Given the description of an element on the screen output the (x, y) to click on. 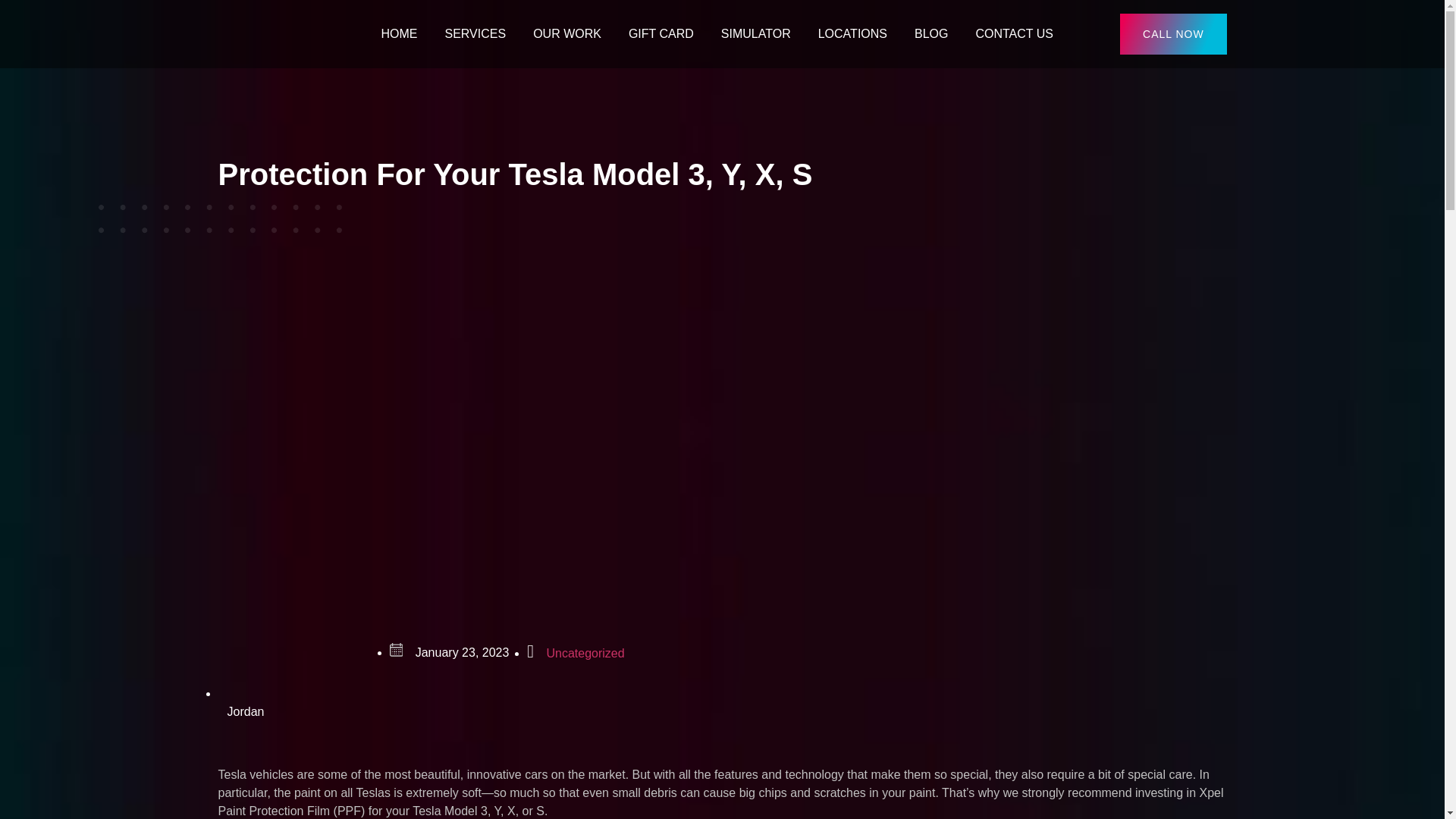
LOCATIONS (853, 34)
CALL NOW (1173, 33)
HOME (398, 34)
OUR WORK (566, 34)
SIMULATOR (756, 34)
GIFT CARD (660, 34)
CONTACT US (1013, 34)
BLOG (930, 34)
SERVICES (474, 34)
